Given the description of an element on the screen output the (x, y) to click on. 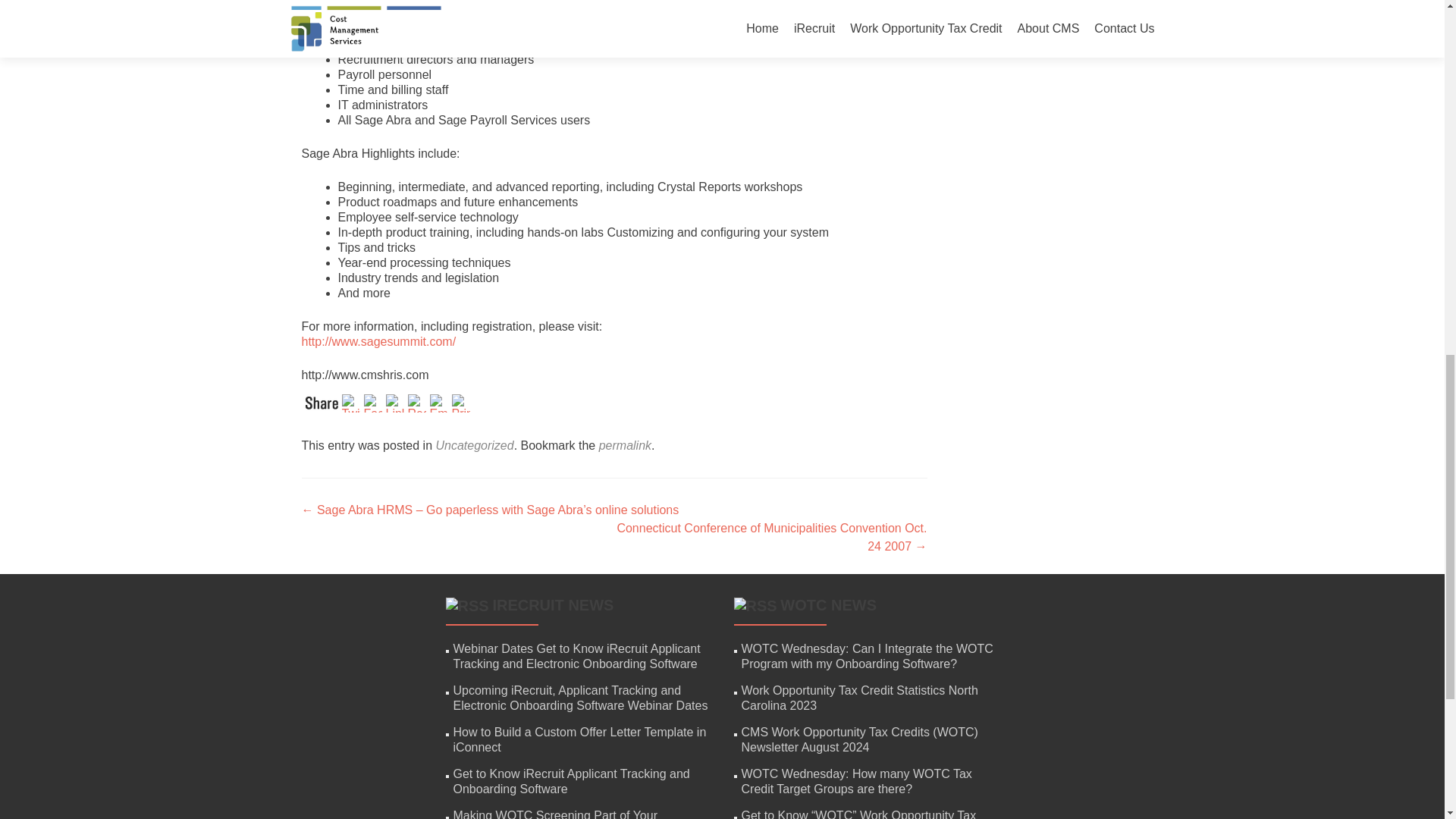
Linkedin (396, 401)
Work Opportunity Tax Credit Statistics North Carolina 2023 (859, 697)
Print (462, 401)
How to Build a Custom Offer Letter Template in iConnect (579, 739)
WOTC NEWS (828, 605)
Making WOTC Screening Part of Your Onboarding Process (555, 814)
Uncategorized (474, 445)
permalink (624, 445)
